Given the description of an element on the screen output the (x, y) to click on. 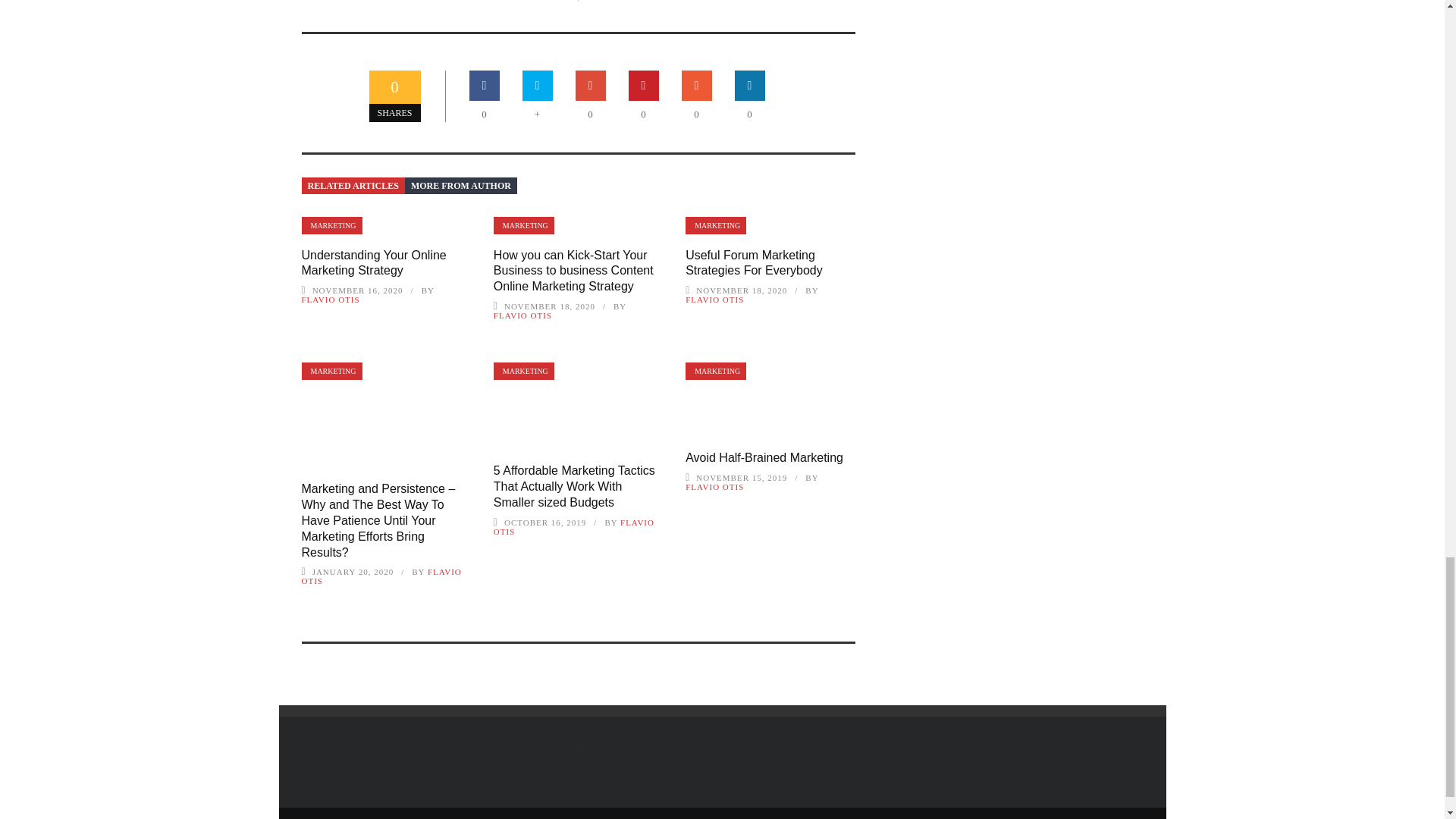
Stumbleupon (696, 85)
MARKETING (523, 225)
MORE FROM AUTHOR (460, 185)
MARKETING (331, 225)
Tweet (537, 85)
Pinterest (644, 85)
RELATED ARTICLES (352, 185)
FLAVIO OTIS (330, 298)
Linkedin (750, 85)
Understanding Your Online Marketing Strategy (373, 262)
Google Plus (590, 85)
Facebook (483, 85)
